Given the description of an element on the screen output the (x, y) to click on. 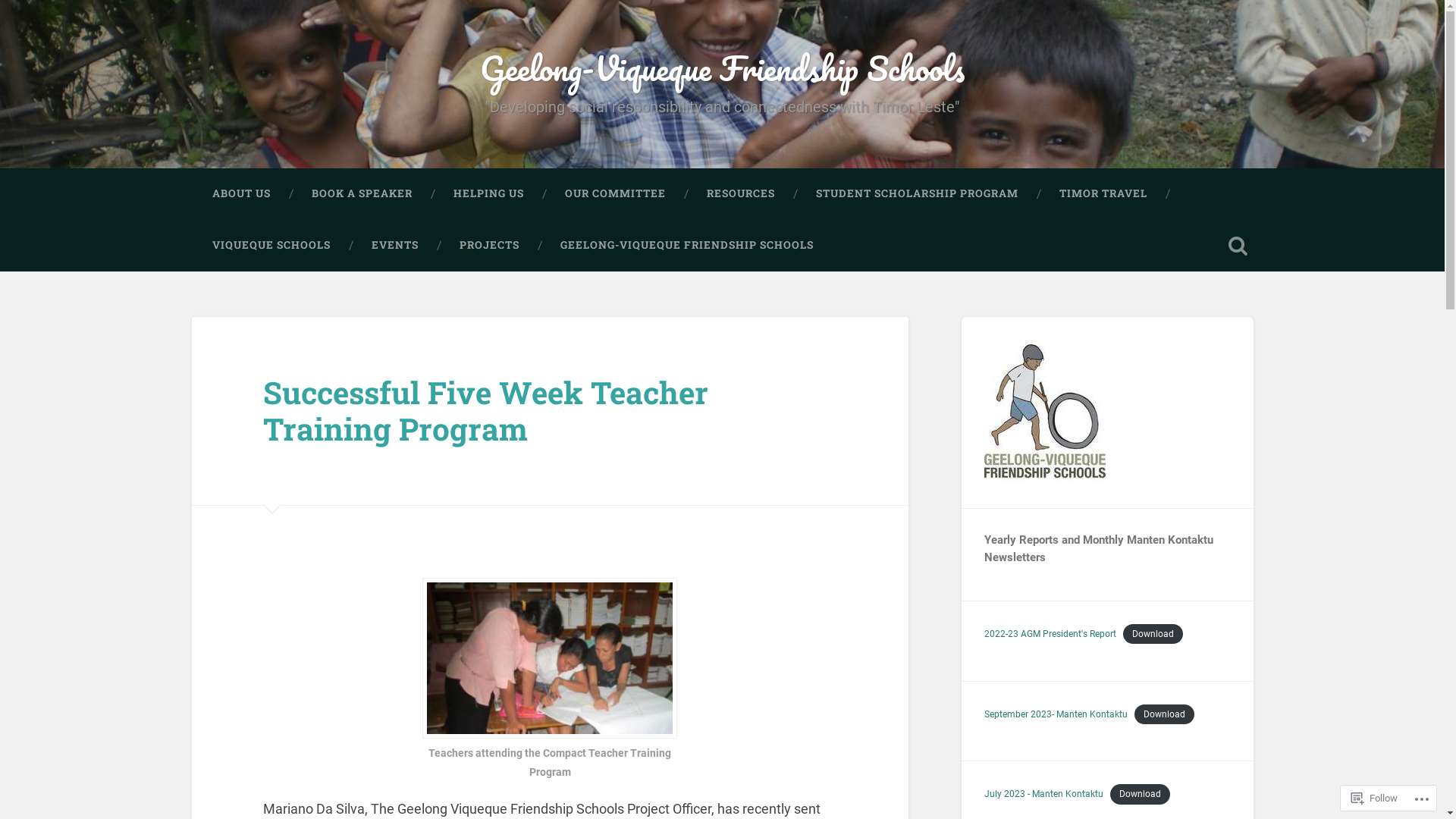
HELPING US Element type: text (487, 193)
2022-23 AGM President's Report Element type: text (1050, 633)
OUR COMMITTEE Element type: text (615, 193)
BOOK A SPEAKER Element type: text (362, 193)
Open Search Element type: text (1237, 245)
VIQUEQUE SCHOOLS Element type: text (270, 245)
EVENTS Element type: text (394, 245)
RESOURCES Element type: text (739, 193)
Download Element type: text (1140, 793)
Download Element type: text (1164, 714)
Successful Five Week Teacher Training Program Element type: text (485, 410)
Geelong-Viqueque Friendship Schools Element type: text (722, 67)
Download Element type: text (1153, 633)
September 2023- Manten Kontaktu Element type: text (1055, 714)
TIMOR TRAVEL Element type: text (1102, 193)
ABOUT US Element type: text (240, 193)
GEELONG-VIQUEQUE FRIENDSHIP SCHOOLS Element type: text (686, 245)
STUDENT SCHOLARSHIP PROGRAM Element type: text (916, 193)
PROJECTS Element type: text (488, 245)
July 2023 - Manten Kontaktu Element type: text (1043, 793)
Follow Element type: text (1374, 797)
